Given the description of an element on the screen output the (x, y) to click on. 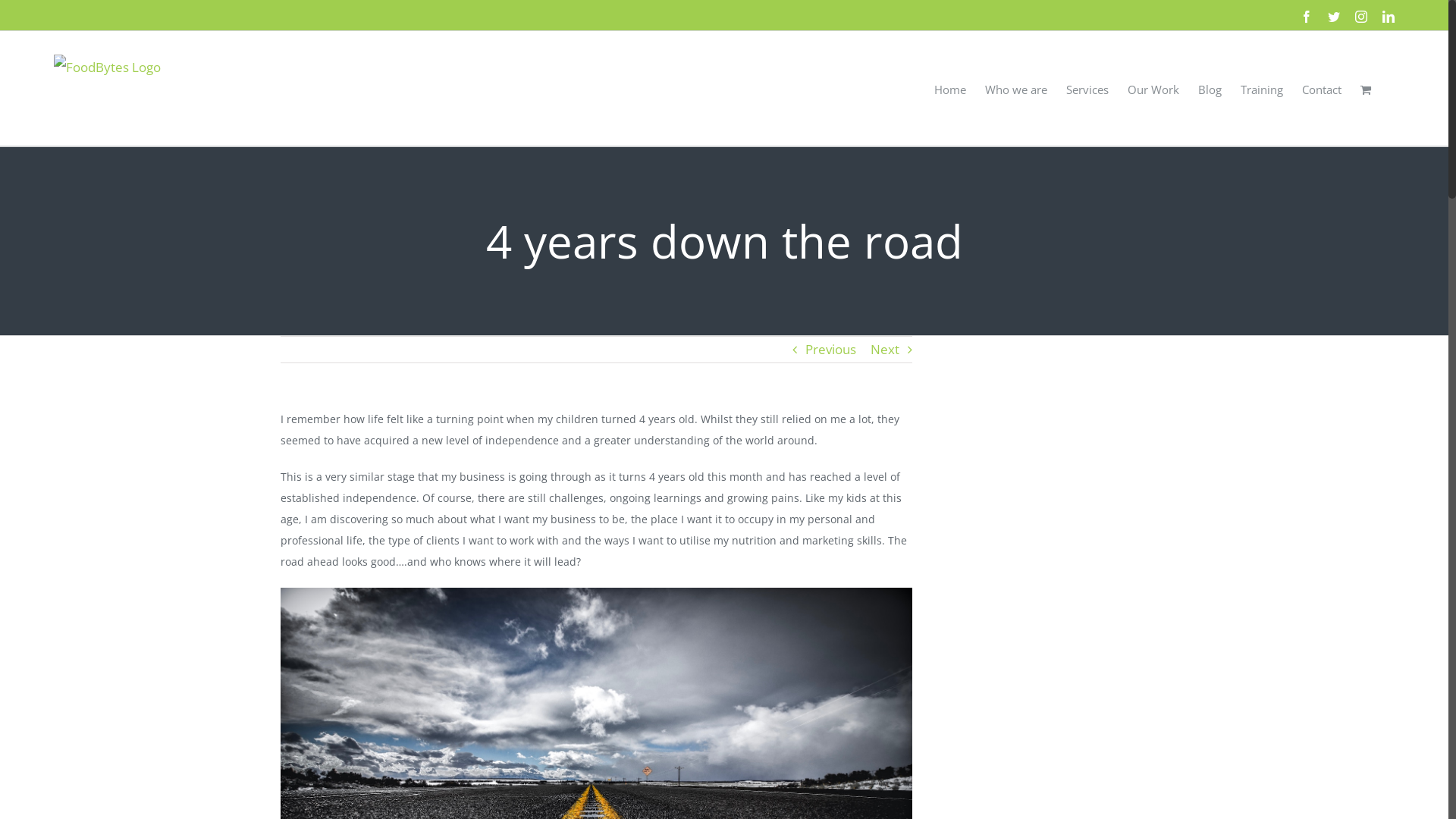
Previous Element type: text (830, 349)
Home Element type: text (950, 88)
Training Element type: text (1261, 88)
Next Element type: text (884, 349)
Who we are Element type: text (1016, 88)
Instagram Element type: text (1361, 16)
Twitter Element type: text (1333, 16)
Our Work Element type: text (1153, 88)
Contact Element type: text (1321, 88)
Facebook Element type: text (1306, 16)
Services Element type: text (1087, 88)
Blog Element type: text (1209, 88)
LinkedIn Element type: text (1388, 16)
